Given the description of an element on the screen output the (x, y) to click on. 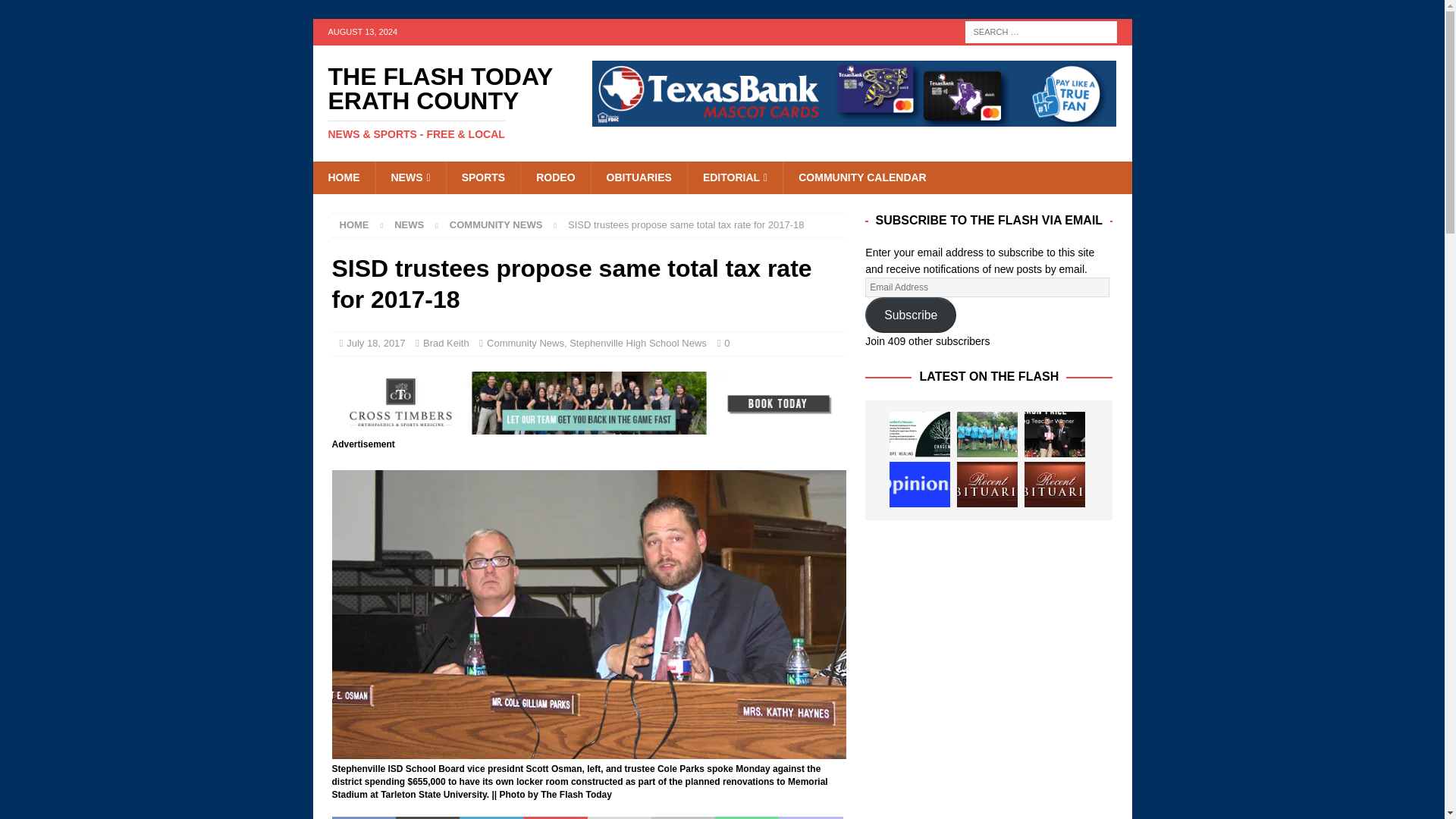
Home (354, 224)
RODEO (554, 177)
NEWS (408, 224)
Search (56, 11)
HOME (354, 224)
EDITORIAL (735, 177)
Community News (496, 224)
NEWS (409, 177)
Community News (525, 342)
